Given the description of an element on the screen output the (x, y) to click on. 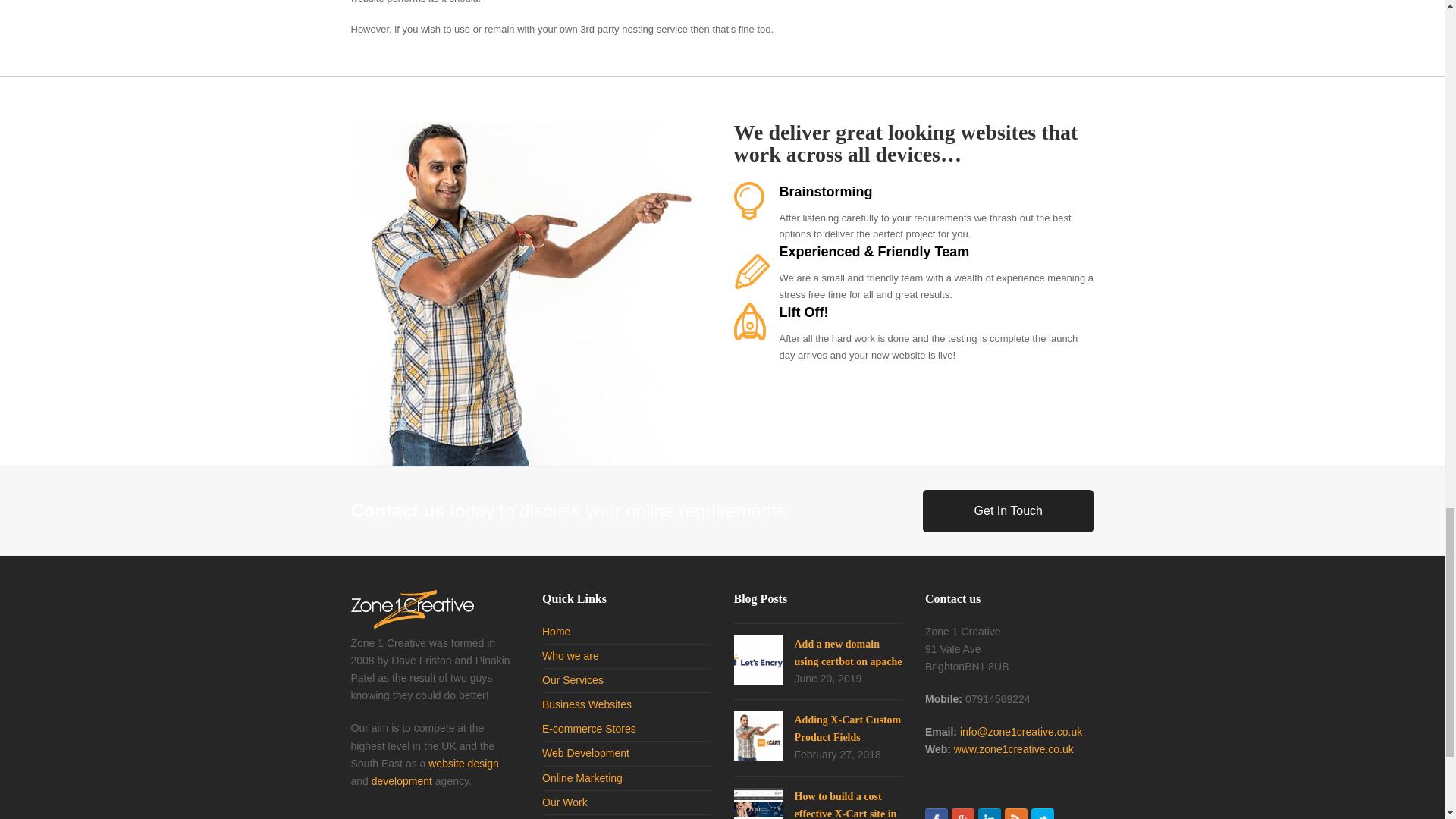
E-commerce Stores (588, 728)
website design (463, 763)
Home (555, 631)
Who we are (569, 655)
Web Development (584, 752)
Get In Touch (1008, 510)
development (401, 780)
Online Marketing (582, 777)
Our Services (572, 680)
Business Websites (586, 704)
